Given the description of an element on the screen output the (x, y) to click on. 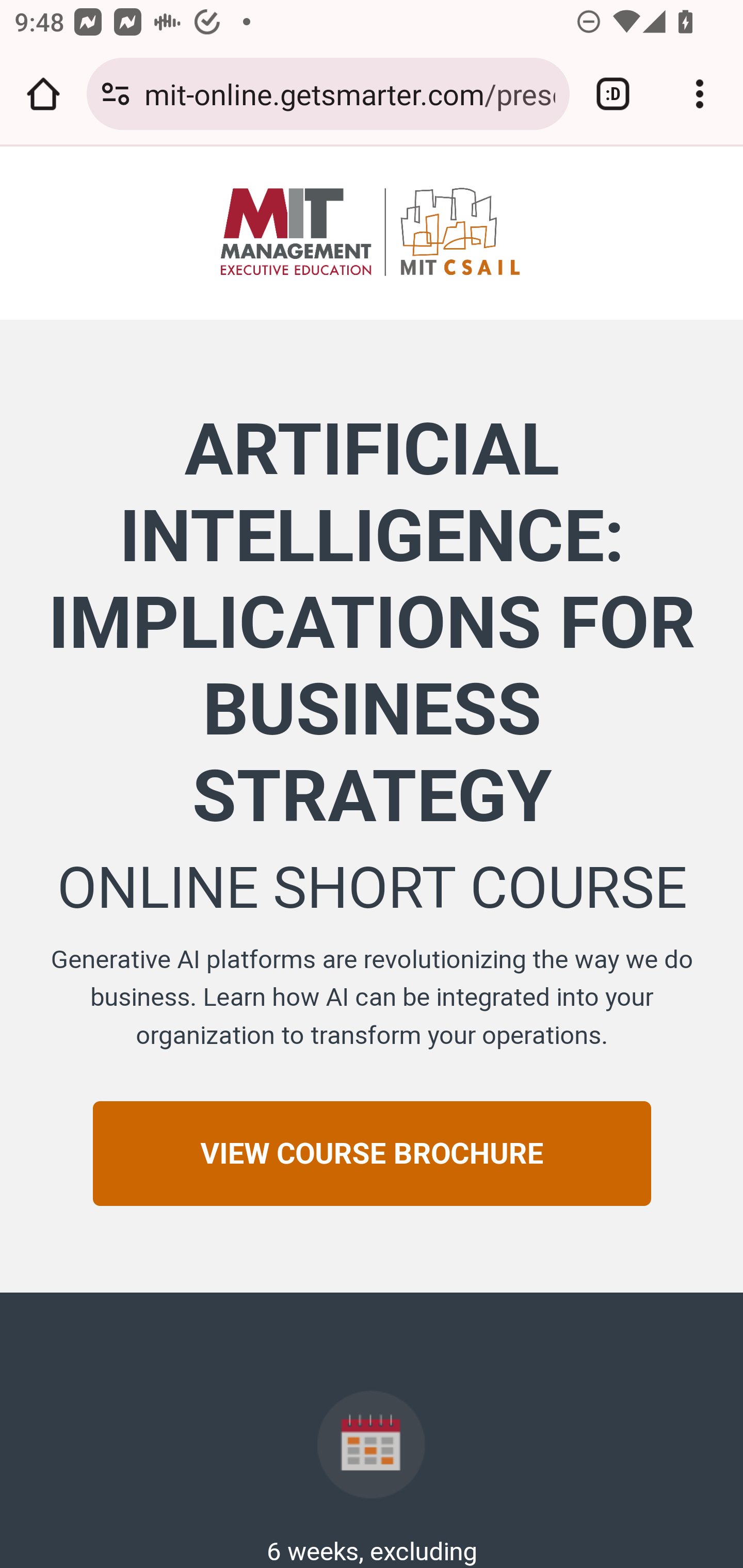
Open the home page (43, 93)
Connection is secure (115, 93)
Switch or close tabs (612, 93)
Customize and control Google Chrome (699, 93)
VIEW COURSE BROCHURE (371, 1152)
